Given the description of an element on the screen output the (x, y) to click on. 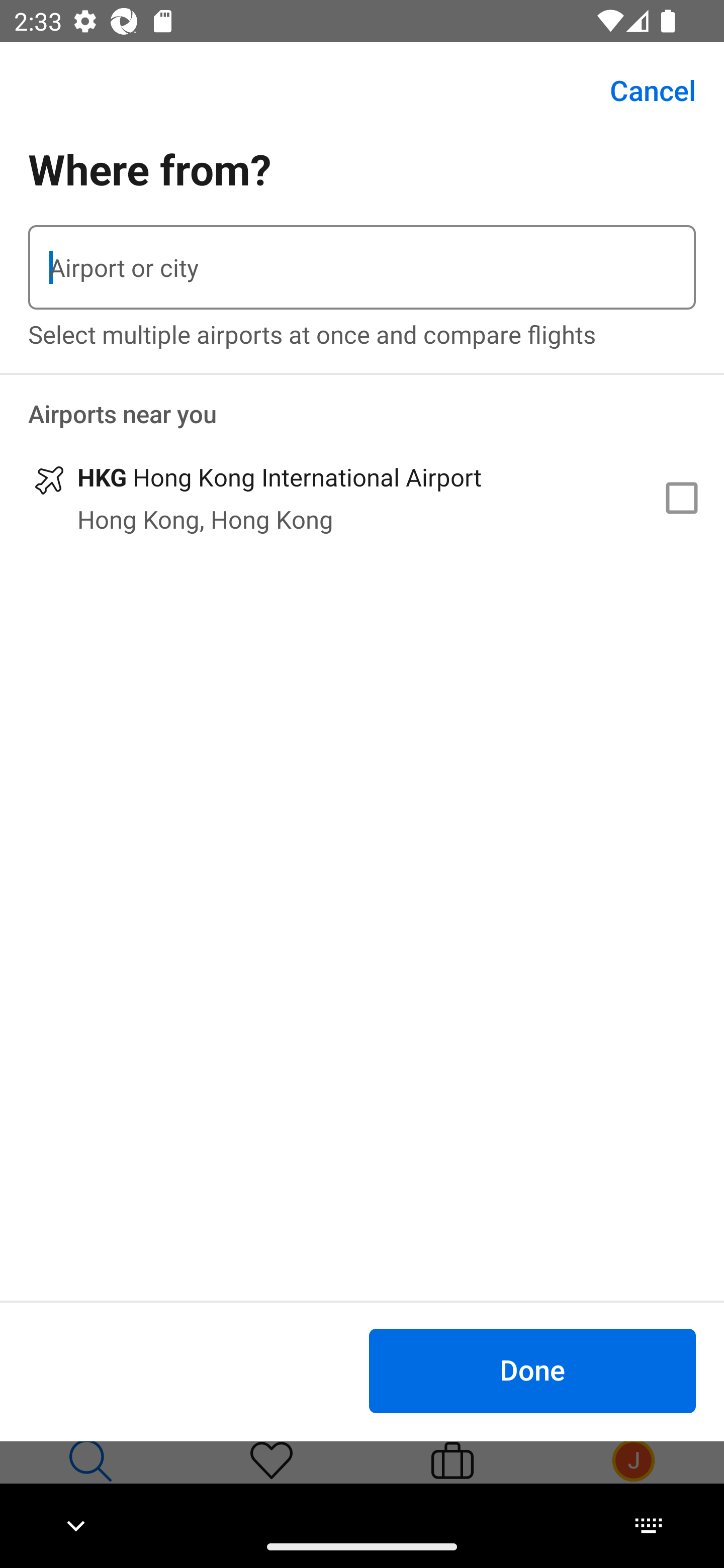
Cancel (641, 90)
Airport or city (361, 266)
Done (532, 1370)
